Given the description of an element on the screen output the (x, y) to click on. 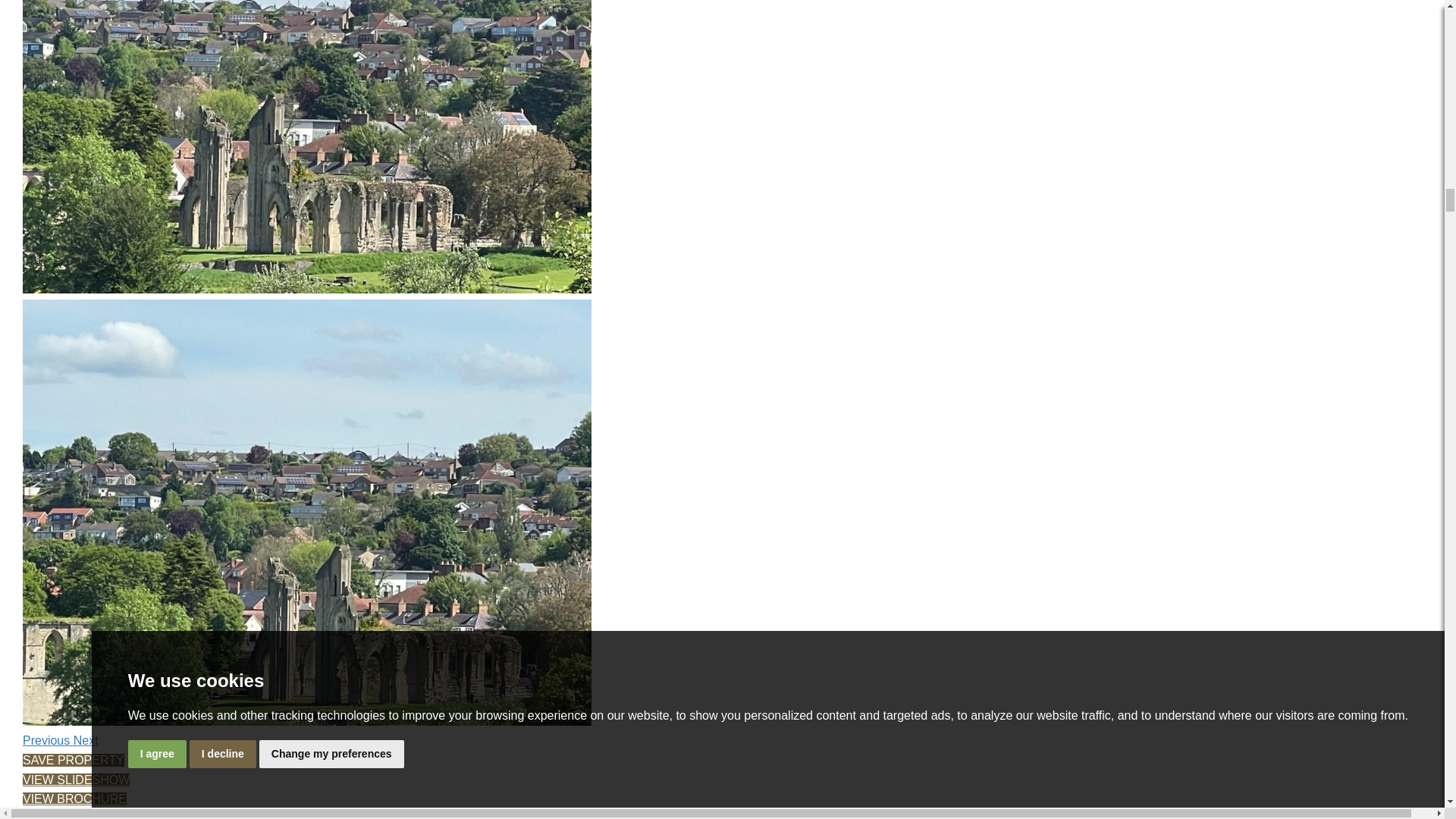
Previous (48, 739)
